Given the description of an element on the screen output the (x, y) to click on. 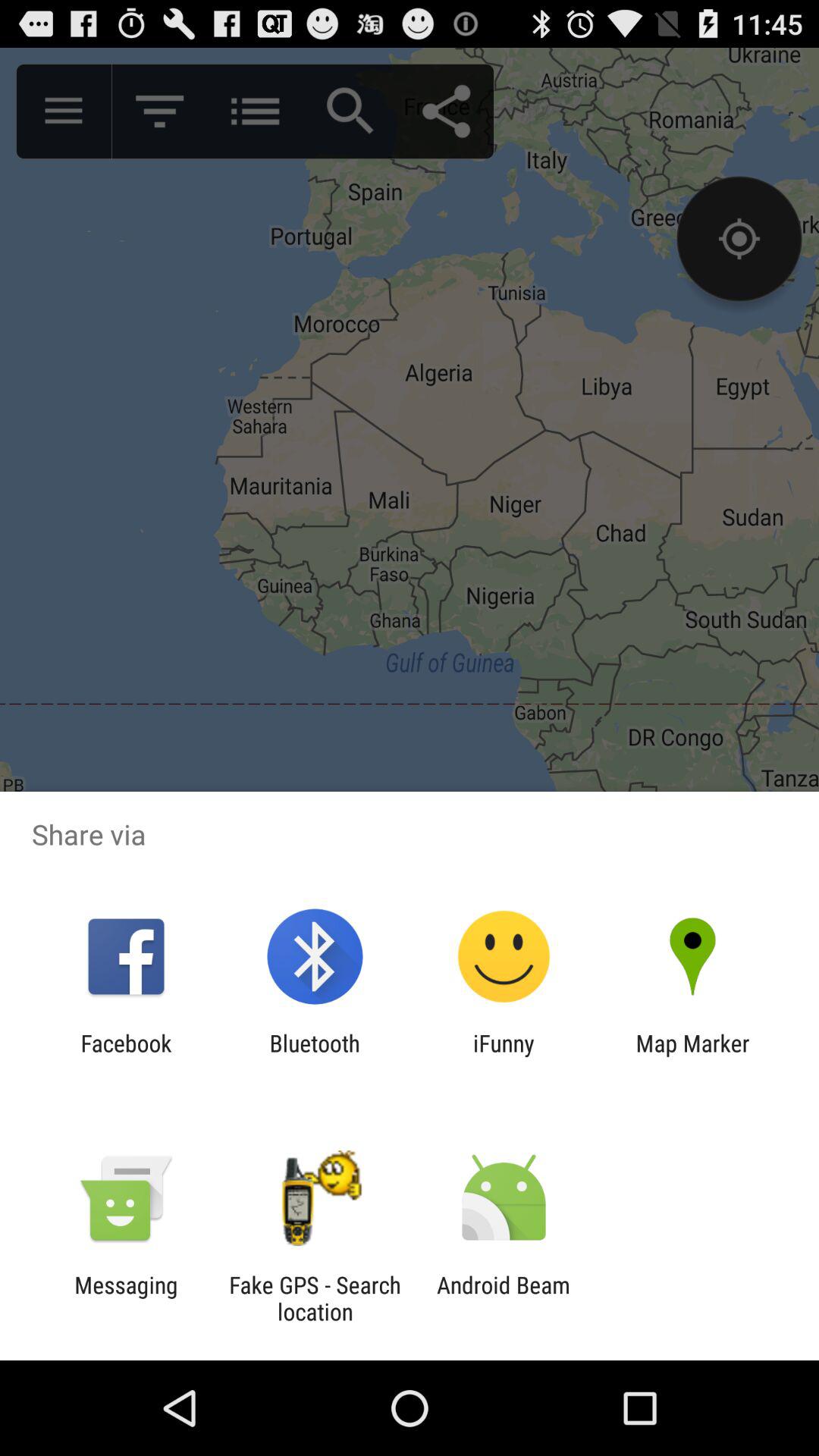
select item next to the android beam item (314, 1298)
